Given the description of an element on the screen output the (x, y) to click on. 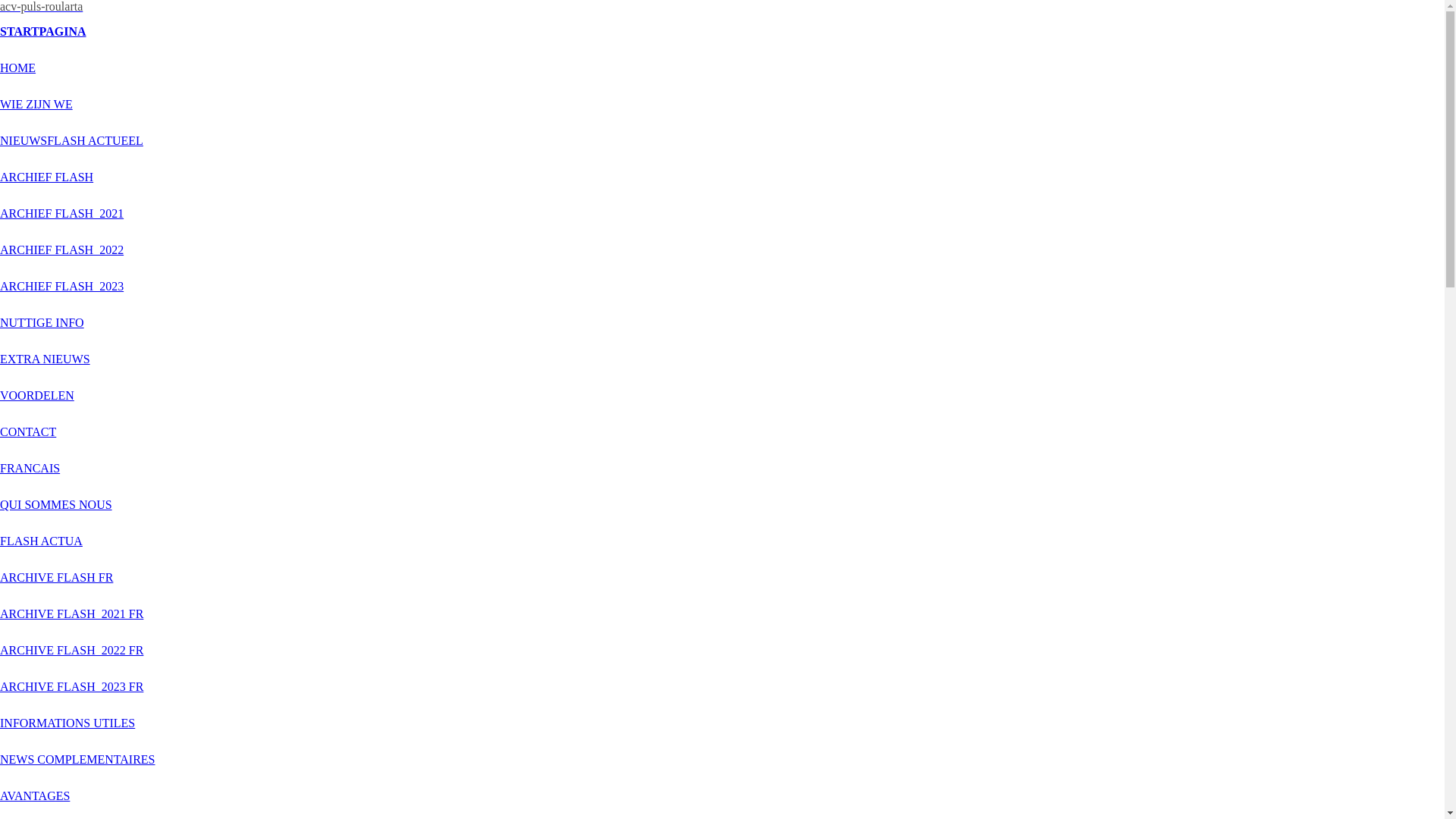
NEWS COMPLEMENTAIRES Element type: text (77, 759)
INFORMATIONS UTILES Element type: text (67, 722)
acv-puls-roularta Element type: text (41, 6)
FLASH ACTUA Element type: text (41, 540)
WIE ZIJN WE Element type: text (36, 103)
ARCHIVE FLASH_2023 FR Element type: text (71, 686)
ARCHIVE FLASH_2021 FR Element type: text (71, 613)
ARCHIVE FLASH_2022 FR Element type: text (71, 649)
ARCHIVE FLASH FR Element type: text (56, 577)
NIEUWSFLASH ACTUEEL Element type: text (71, 140)
ARCHIEF FLASH_2022 Element type: text (61, 249)
ARCHIEF FLASH Element type: text (46, 176)
VOORDELEN Element type: text (37, 395)
QUI SOMMES NOUS Element type: text (56, 504)
CONTACT Element type: text (28, 431)
ARCHIEF FLASH_2023 Element type: text (61, 285)
AVANTAGES Element type: text (34, 795)
STARTPAGINA Element type: text (43, 31)
ARCHIEF FLASH_2021 Element type: text (61, 213)
HOME Element type: text (17, 67)
NUTTIGE INFO Element type: text (42, 322)
EXTRA NIEUWS Element type: text (45, 358)
FRANCAIS Element type: text (29, 467)
